Given the description of an element on the screen output the (x, y) to click on. 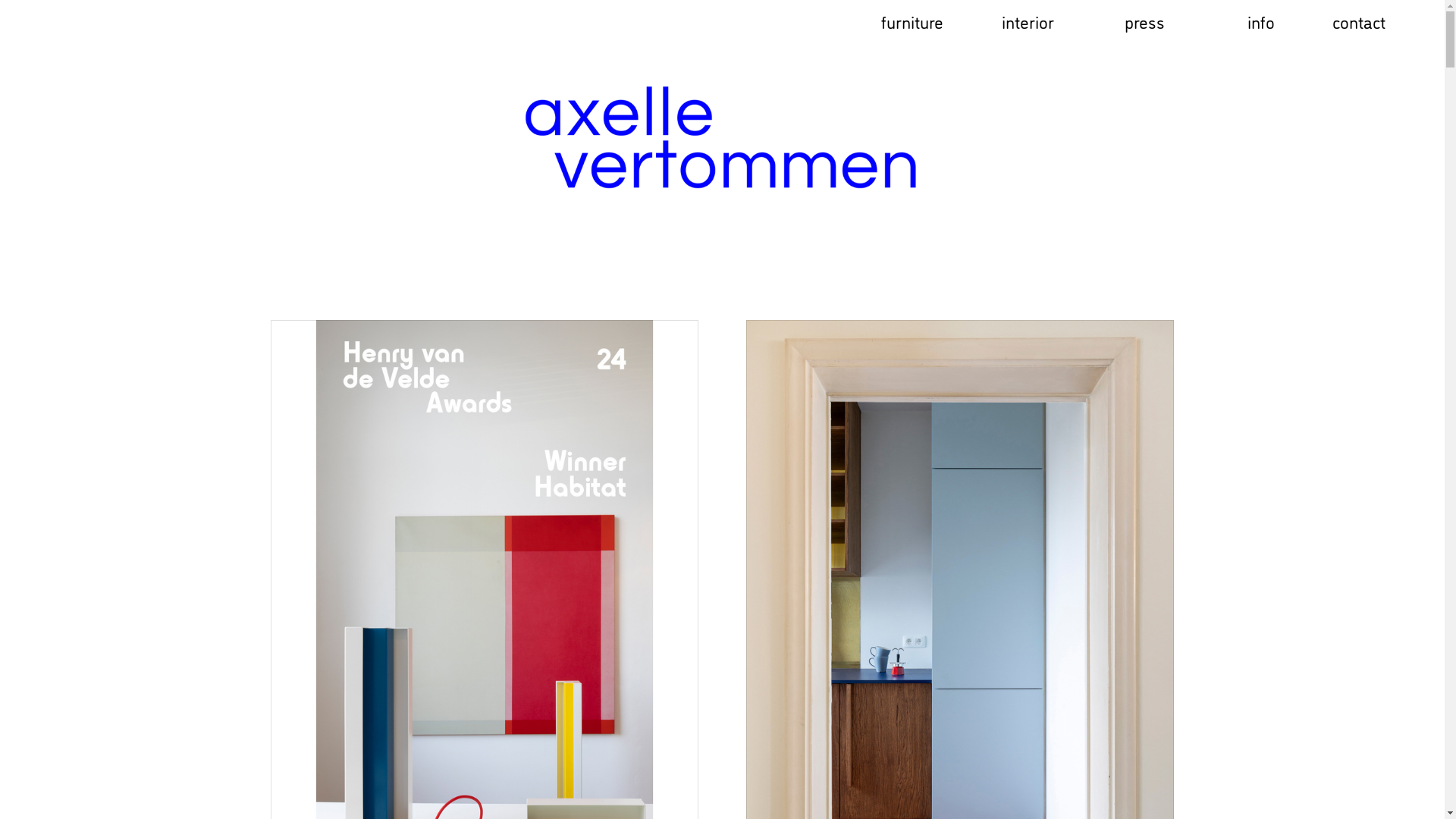
furniture Element type: text (912, 21)
info Element type: text (1260, 21)
interior Element type: text (1027, 21)
press Element type: text (1144, 21)
contact Element type: text (1358, 21)
